Given the description of an element on the screen output the (x, y) to click on. 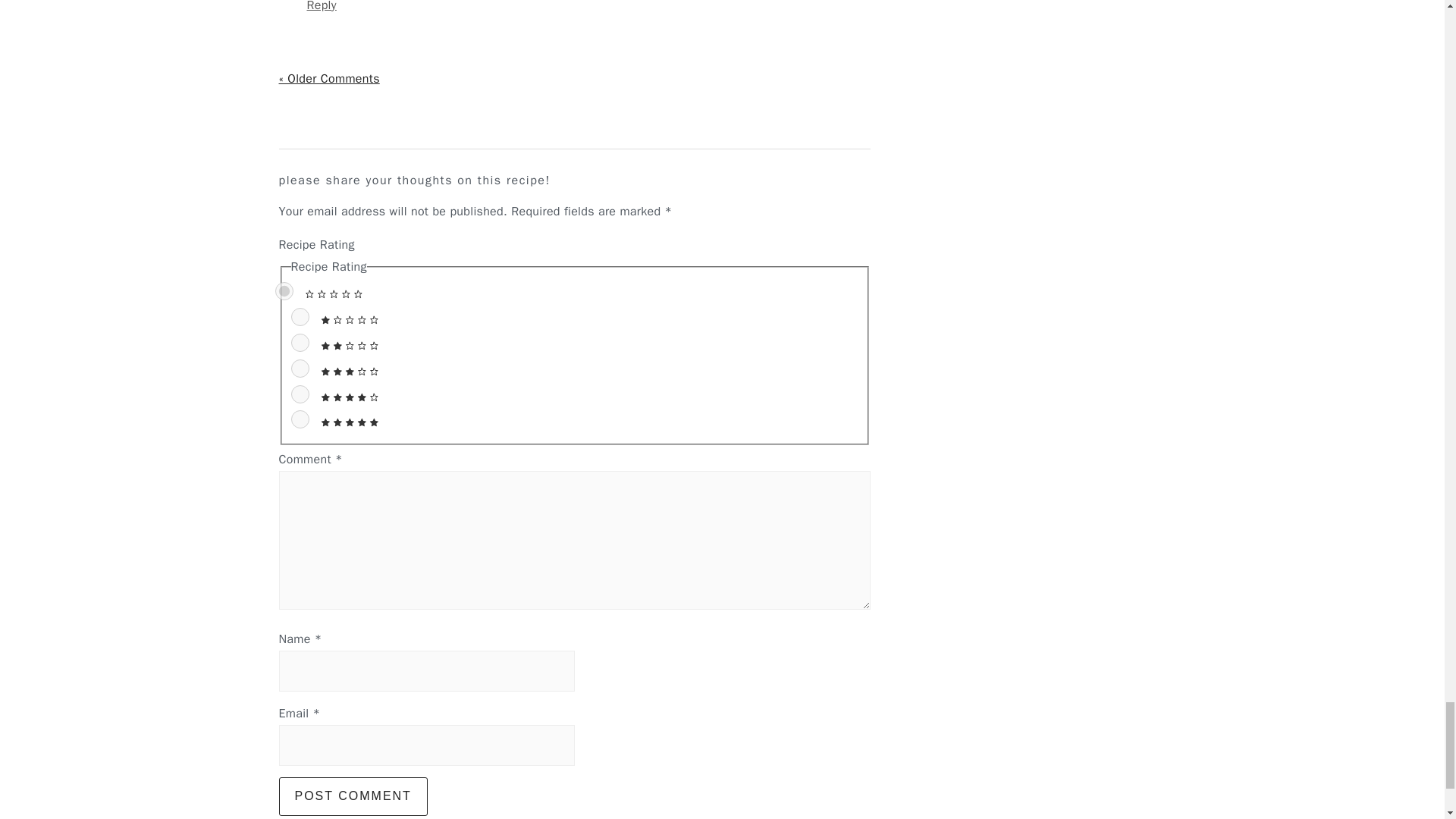
1 (299, 316)
3 (299, 368)
4 (299, 393)
5 (299, 419)
2 (299, 342)
Post Comment (353, 795)
0 (283, 290)
